Given the description of an element on the screen output the (x, y) to click on. 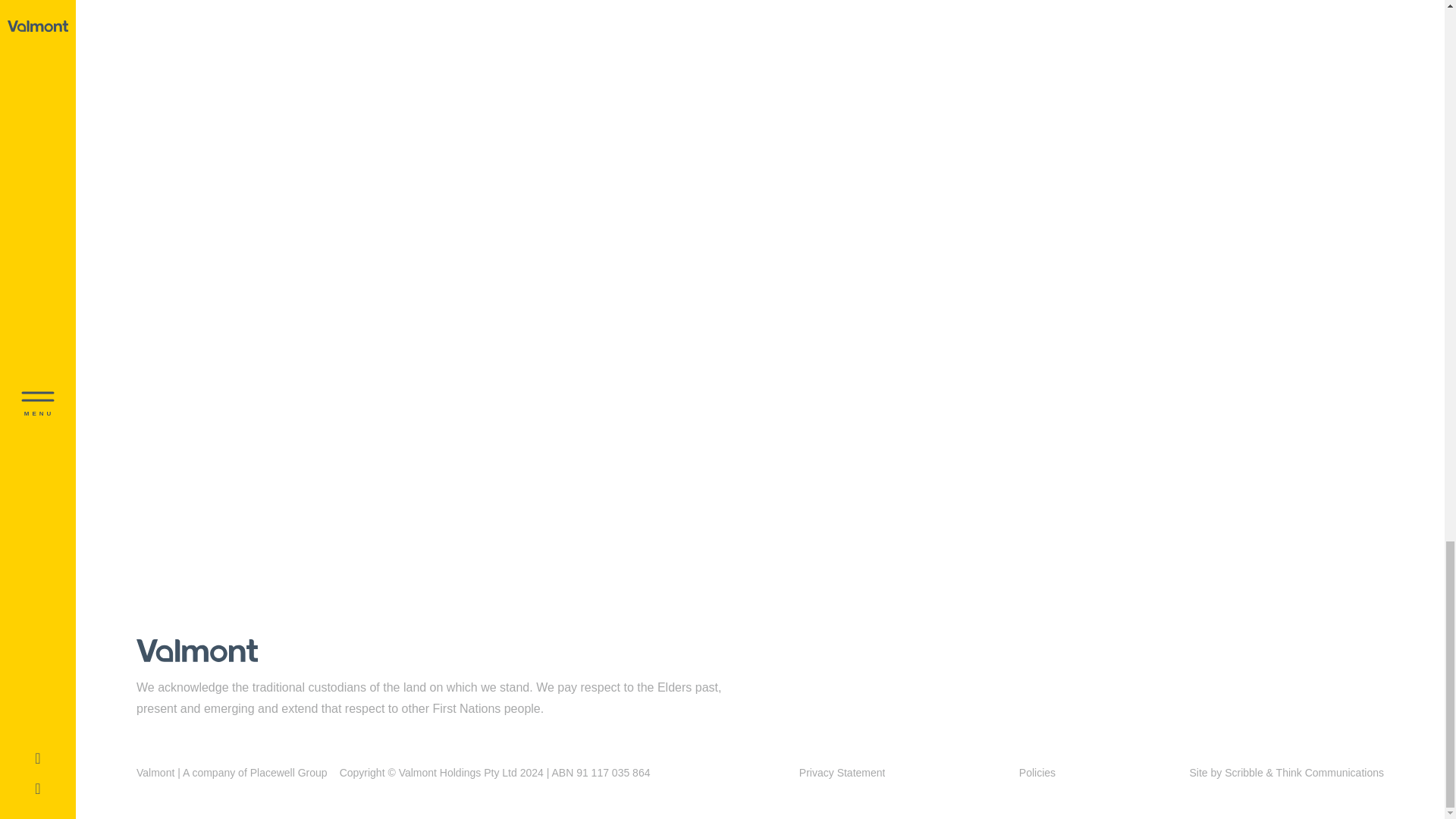
Policies (1037, 773)
Privacy Statement (842, 773)
